Given the description of an element on the screen output the (x, y) to click on. 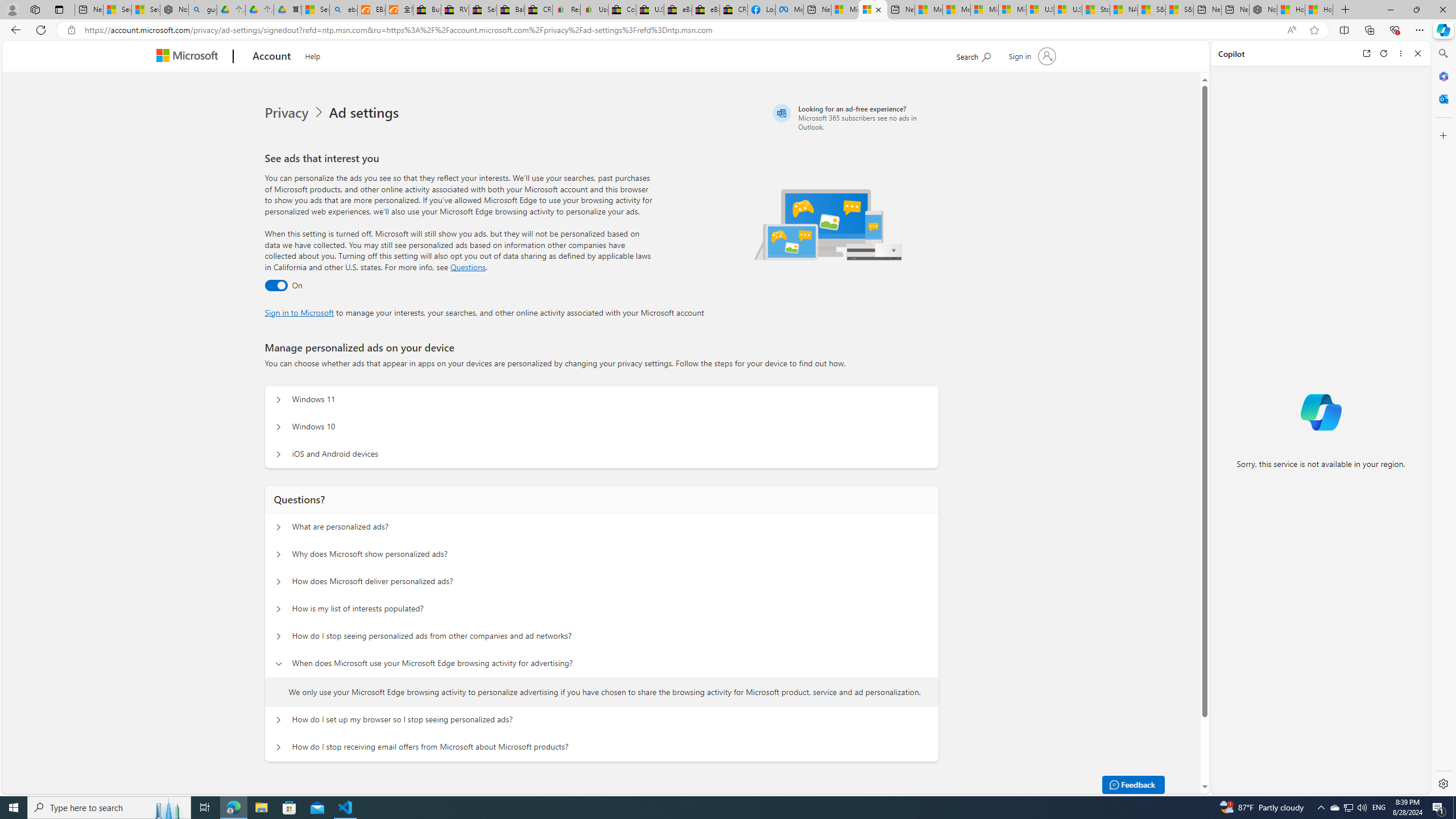
Account (272, 56)
Questions? Why does Microsoft show personalized ads? (278, 554)
Manage personalized ads on your device Windows 11 (278, 400)
eBay Inc. Reports Third Quarter 2023 Results (706, 9)
Consumer Health Data Privacy Policy - eBay Inc. (621, 9)
guge yunpan - Search (202, 9)
Privacy (295, 112)
Illustration of multiple devices (829, 224)
